Given the description of an element on the screen output the (x, y) to click on. 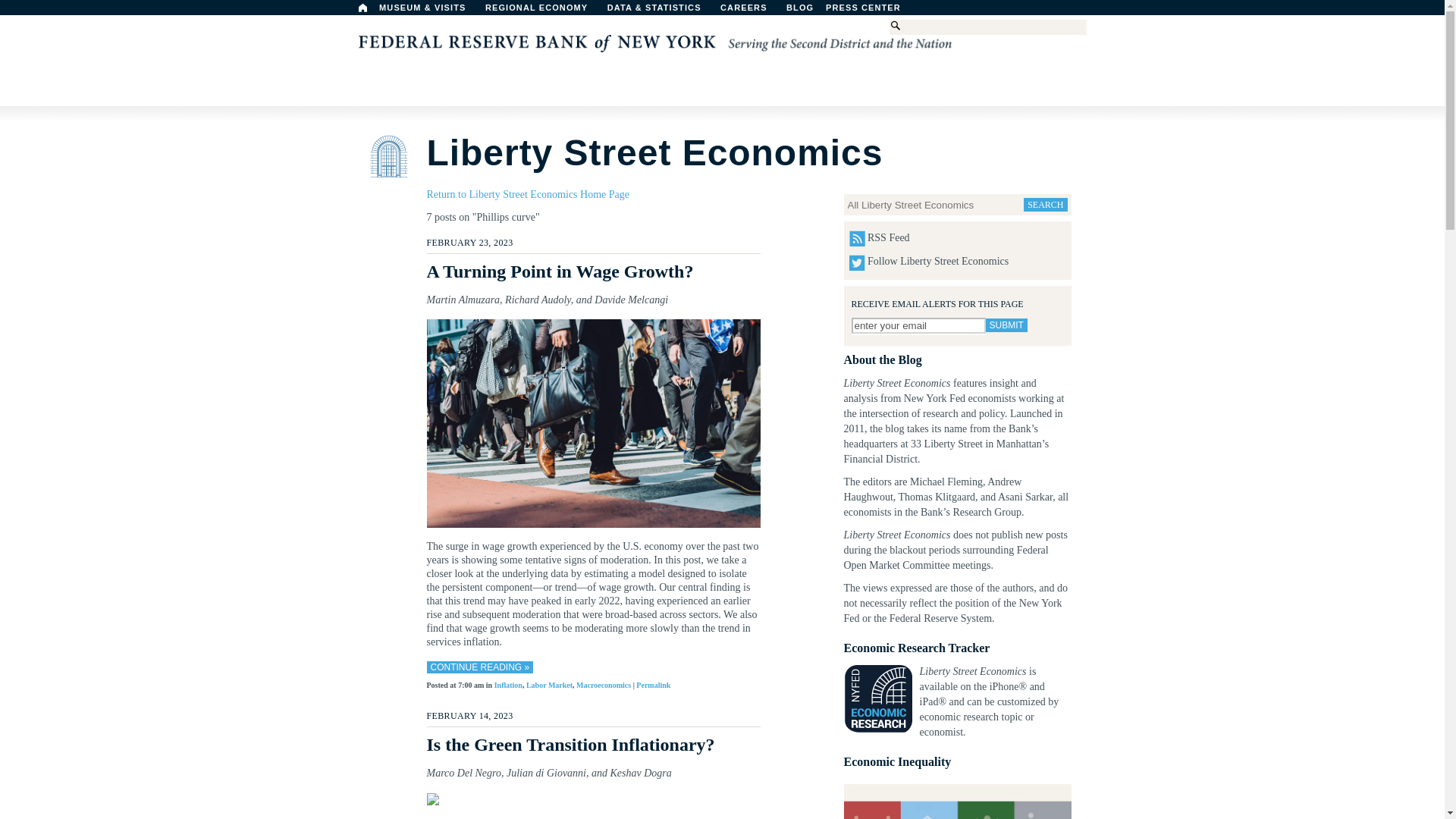
PRESS CENTER (870, 11)
BLOG (839, 11)
CAREERS (751, 11)
Submit (1006, 325)
REGIONAL ECONOMY (543, 11)
enter your email (917, 325)
Home (362, 8)
